Given the description of an element on the screen output the (x, y) to click on. 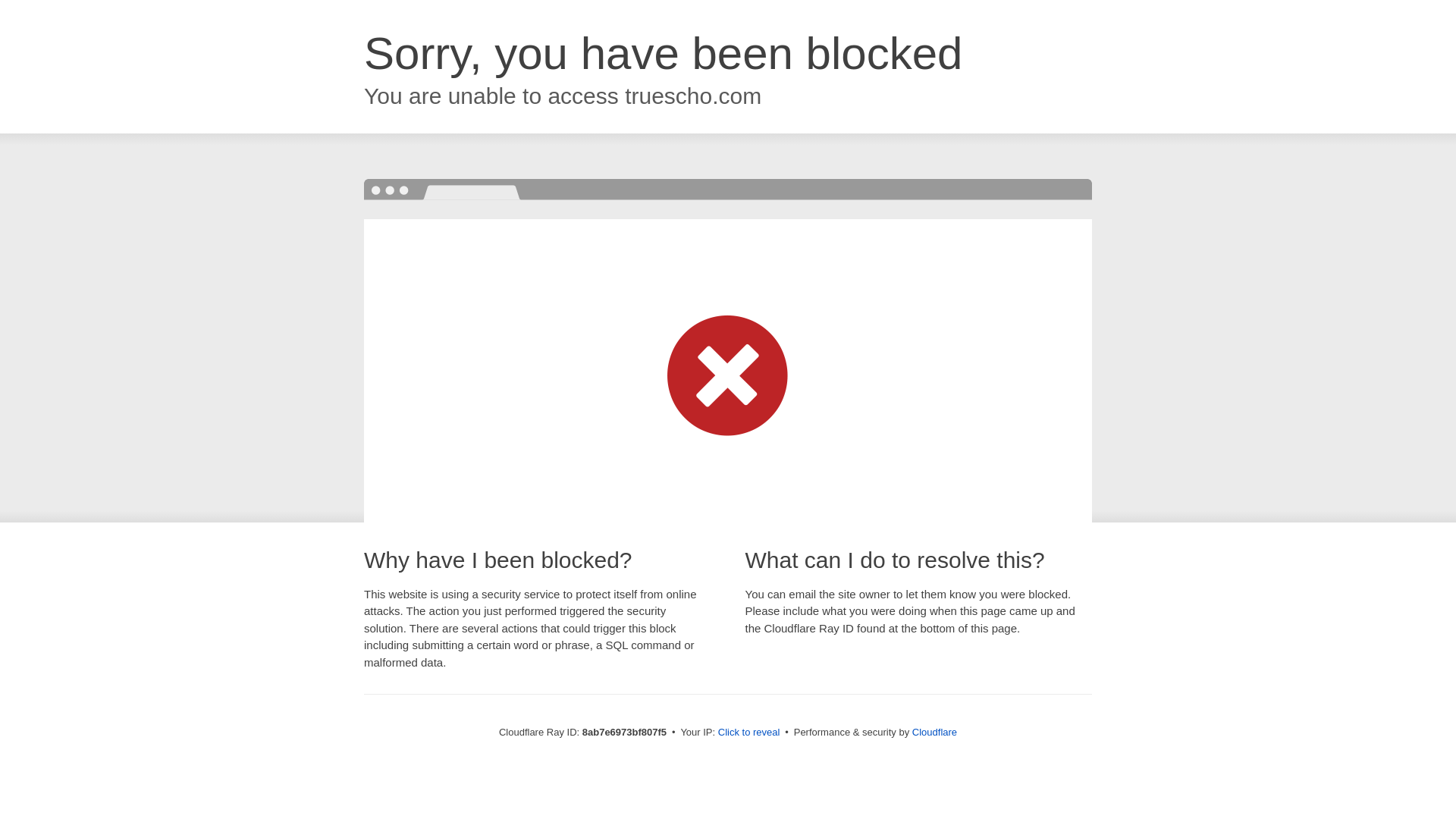
Click to reveal (748, 732)
Cloudflare (934, 731)
